Given the description of an element on the screen output the (x, y) to click on. 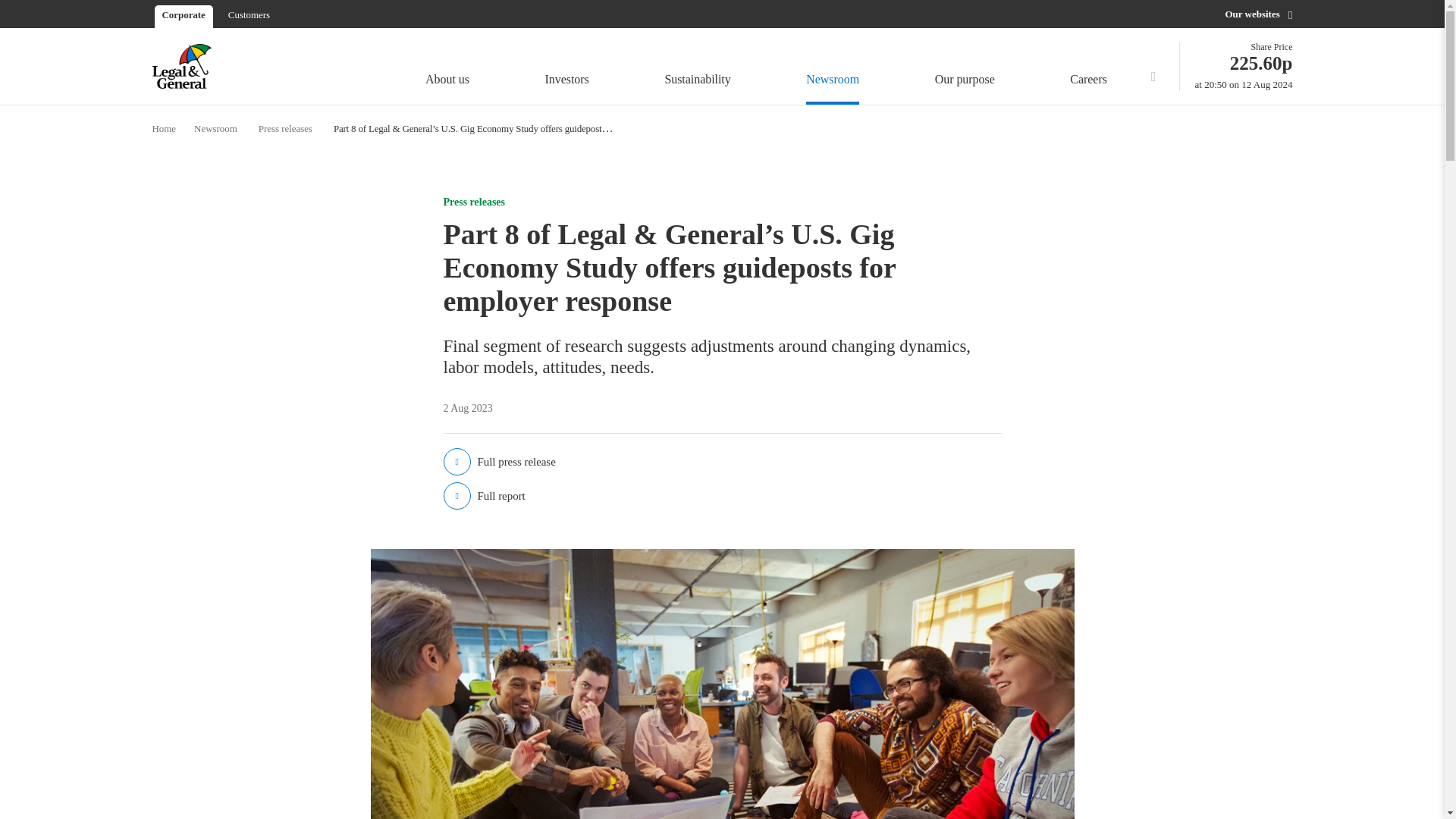
Careers (1091, 68)
Investors (566, 68)
Our websites (1258, 14)
Our purpose (964, 68)
Newsroom (832, 68)
Customers (1243, 65)
About us (248, 14)
Sustainability (446, 68)
